Given the description of an element on the screen output the (x, y) to click on. 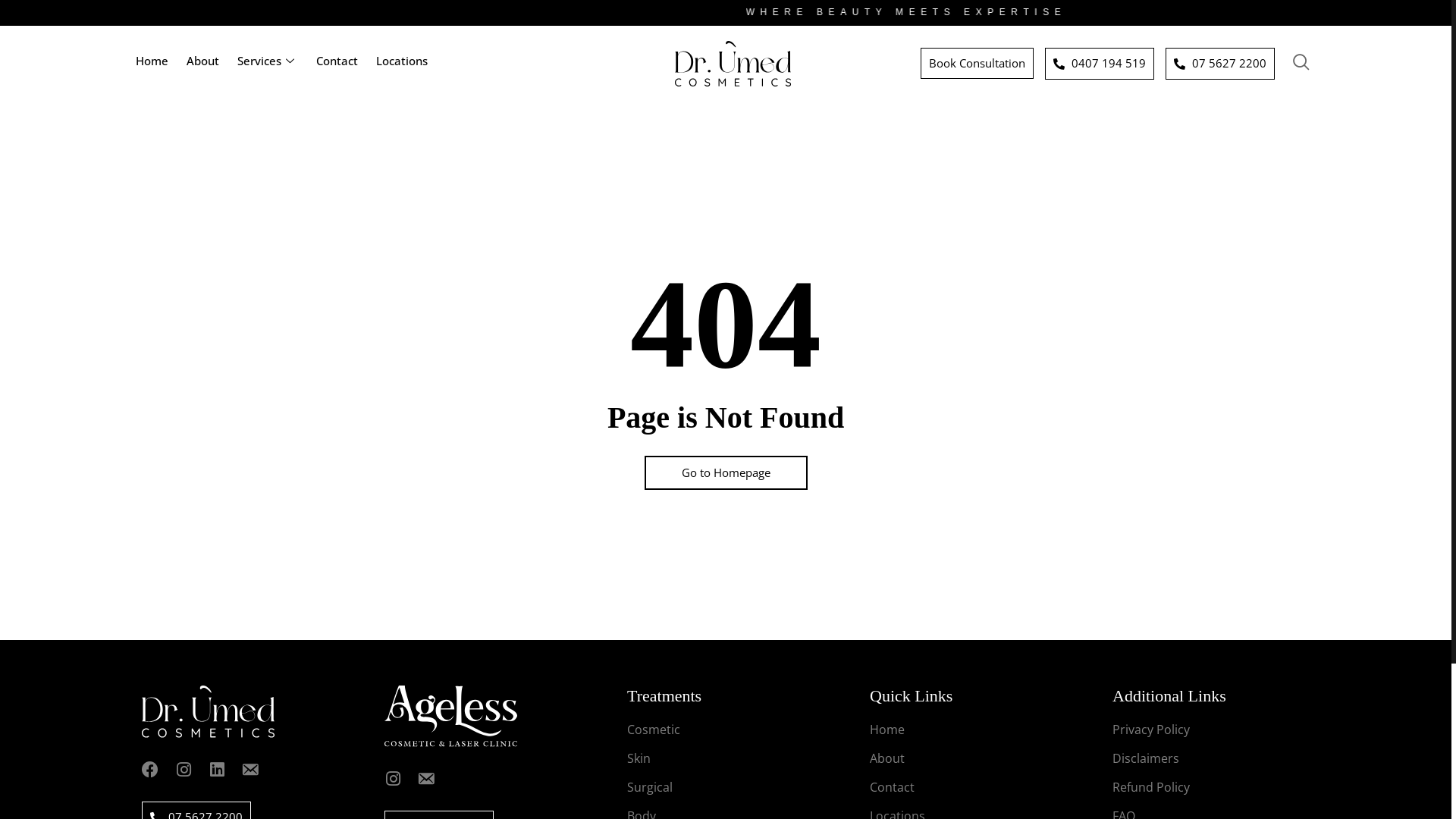
Go to Homepage Element type: text (725, 472)
Book Consultation Element type: text (976, 62)
Services Element type: text (267, 63)
Cosmetic Element type: text (653, 729)
Home Element type: text (151, 63)
0407 194 519 Element type: text (1099, 63)
Surgical Element type: text (649, 786)
Refund Policy Element type: text (1150, 786)
Contact Element type: text (891, 786)
Locations Element type: text (401, 63)
Contact Element type: text (336, 63)
Privacy Policy Element type: text (1150, 729)
07 5627 2200 Element type: text (1219, 63)
About Element type: text (886, 757)
Skin Element type: text (638, 757)
Disclaimers Element type: text (1145, 757)
About Element type: text (202, 63)
Home Element type: text (886, 729)
